Given the description of an element on the screen output the (x, y) to click on. 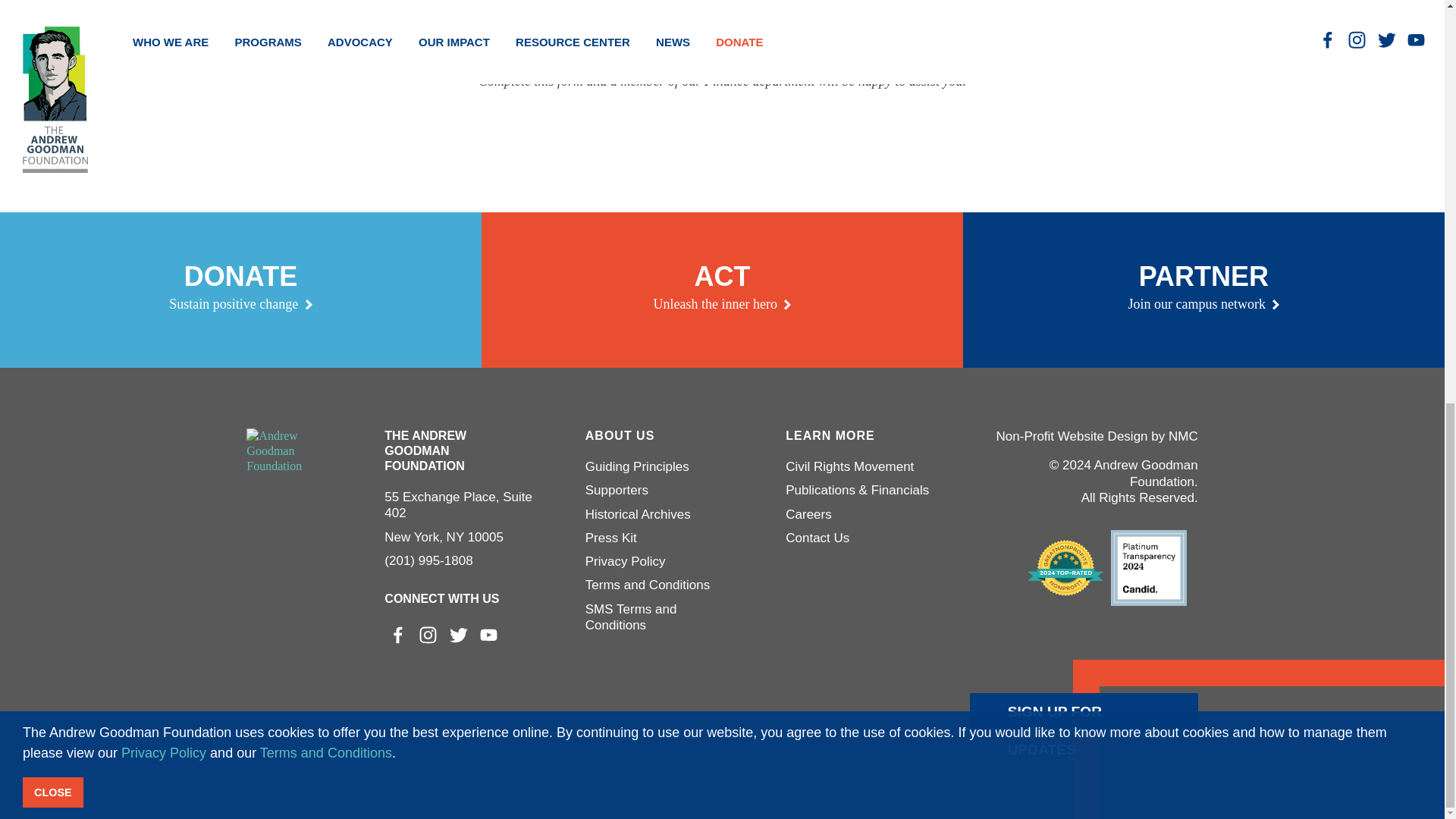
BANK WIRE AND SECURITIES TRANSFER (721, 289)
ABOUT US (722, 34)
Guiding Principles (659, 435)
